Given the description of an element on the screen output the (x, y) to click on. 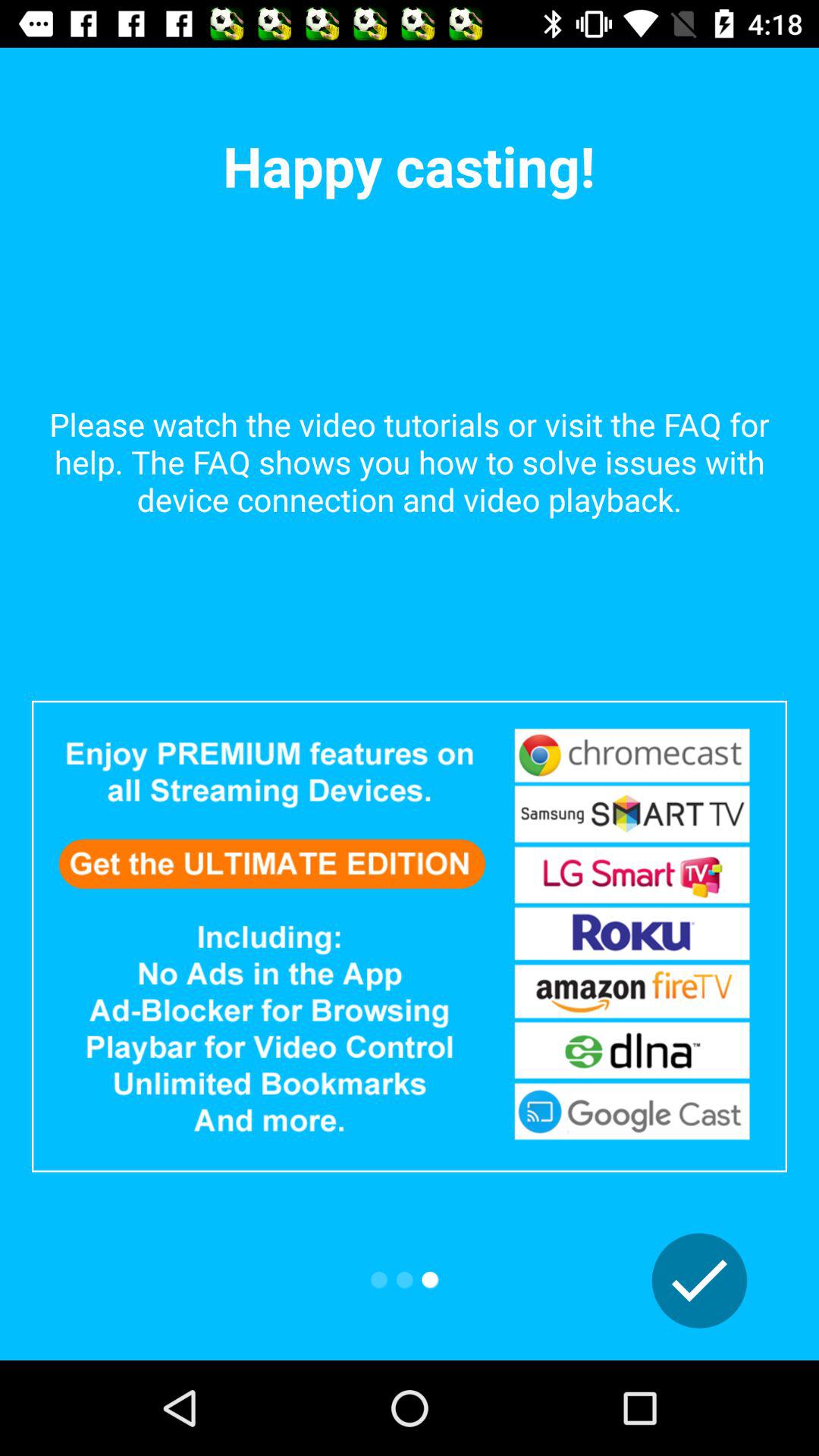
select the item at the bottom right corner (699, 1280)
